Given the description of an element on the screen output the (x, y) to click on. 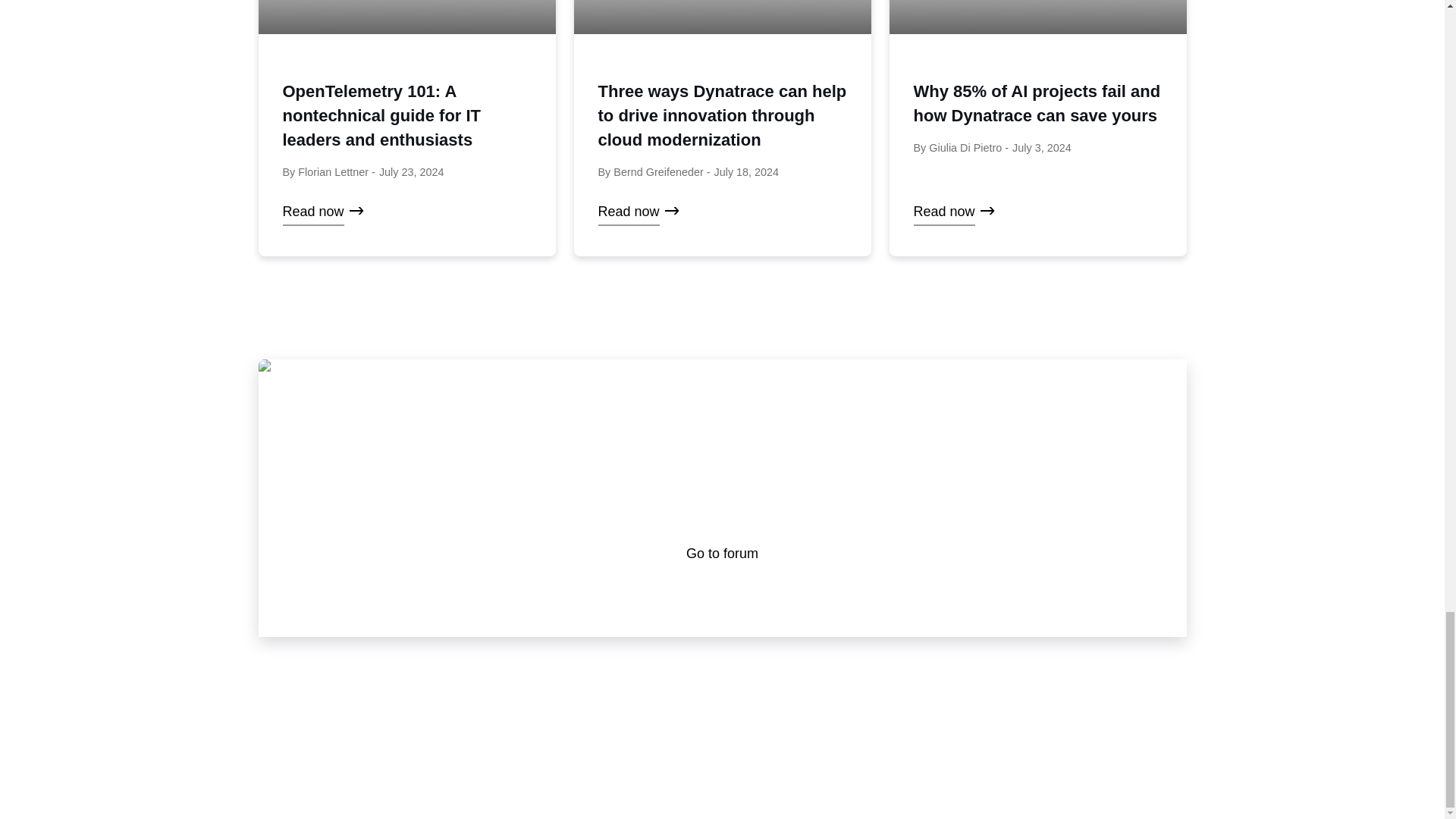
Go to forum (722, 553)
